Given the description of an element on the screen output the (x, y) to click on. 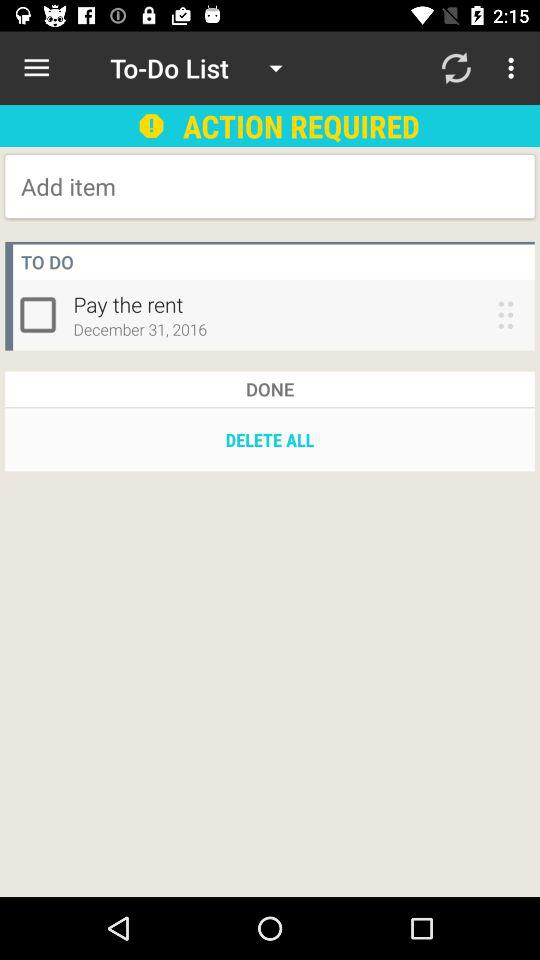
add item (181, 186)
